Given the description of an element on the screen output the (x, y) to click on. 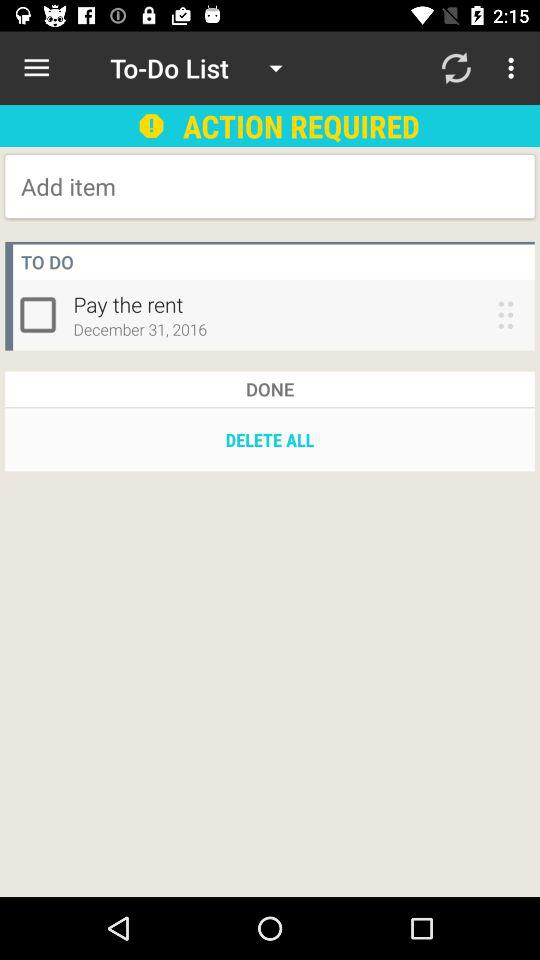
add item (181, 186)
